Given the description of an element on the screen output the (x, y) to click on. 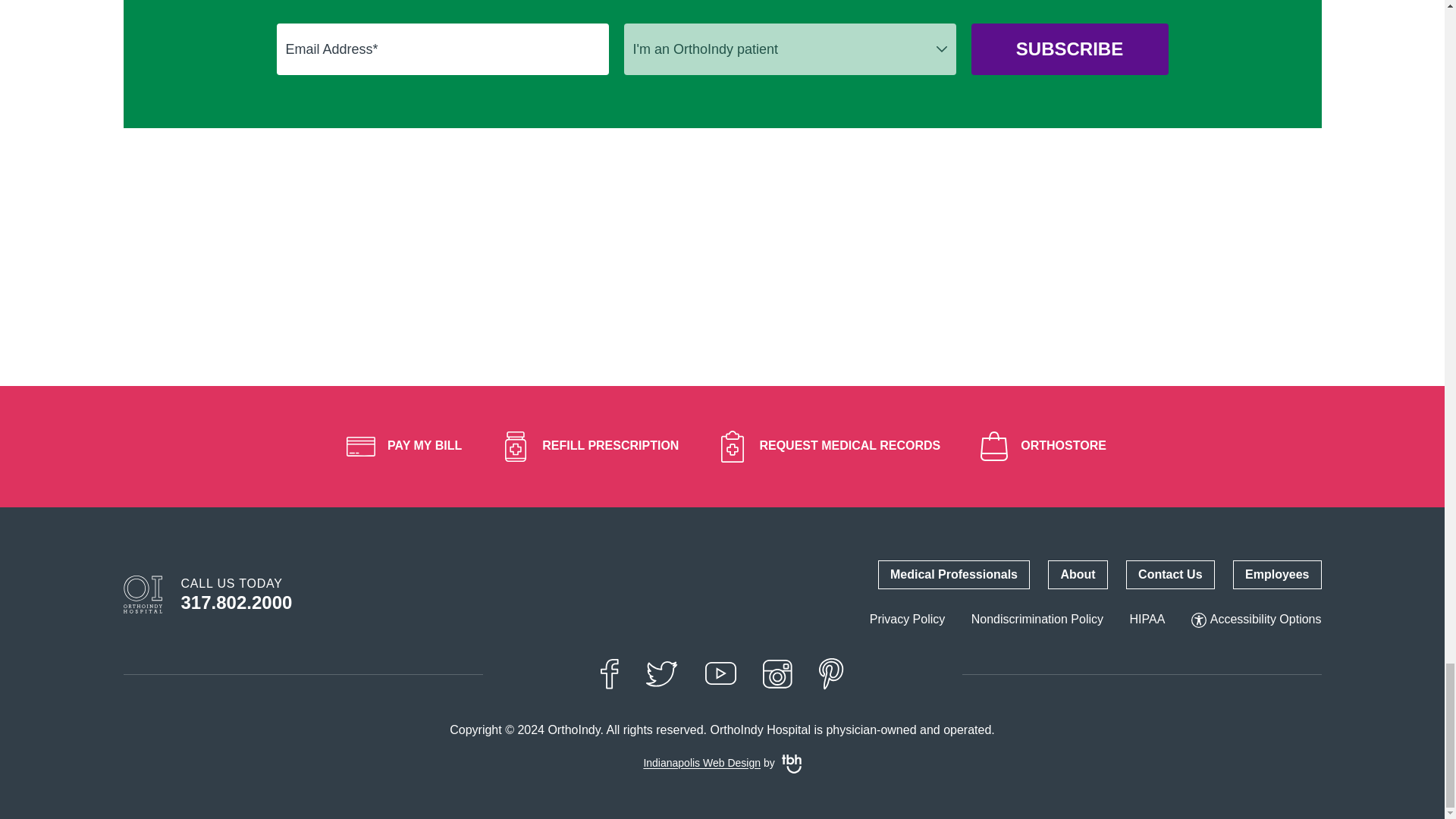
Employees (1276, 574)
PAY MY BILL (399, 446)
Privacy Policy (906, 618)
Subscribe (1069, 49)
Medical Professionals (953, 574)
ORTHOSTORE (1038, 446)
Nondiscrimination Policy (1037, 618)
About (1077, 574)
Contact Us (1169, 574)
Subscribe (1069, 49)
REQUEST MEDICAL RECORDS (825, 446)
HIPAA (1147, 618)
REFILL PRESCRIPTION (585, 446)
